Given the description of an element on the screen output the (x, y) to click on. 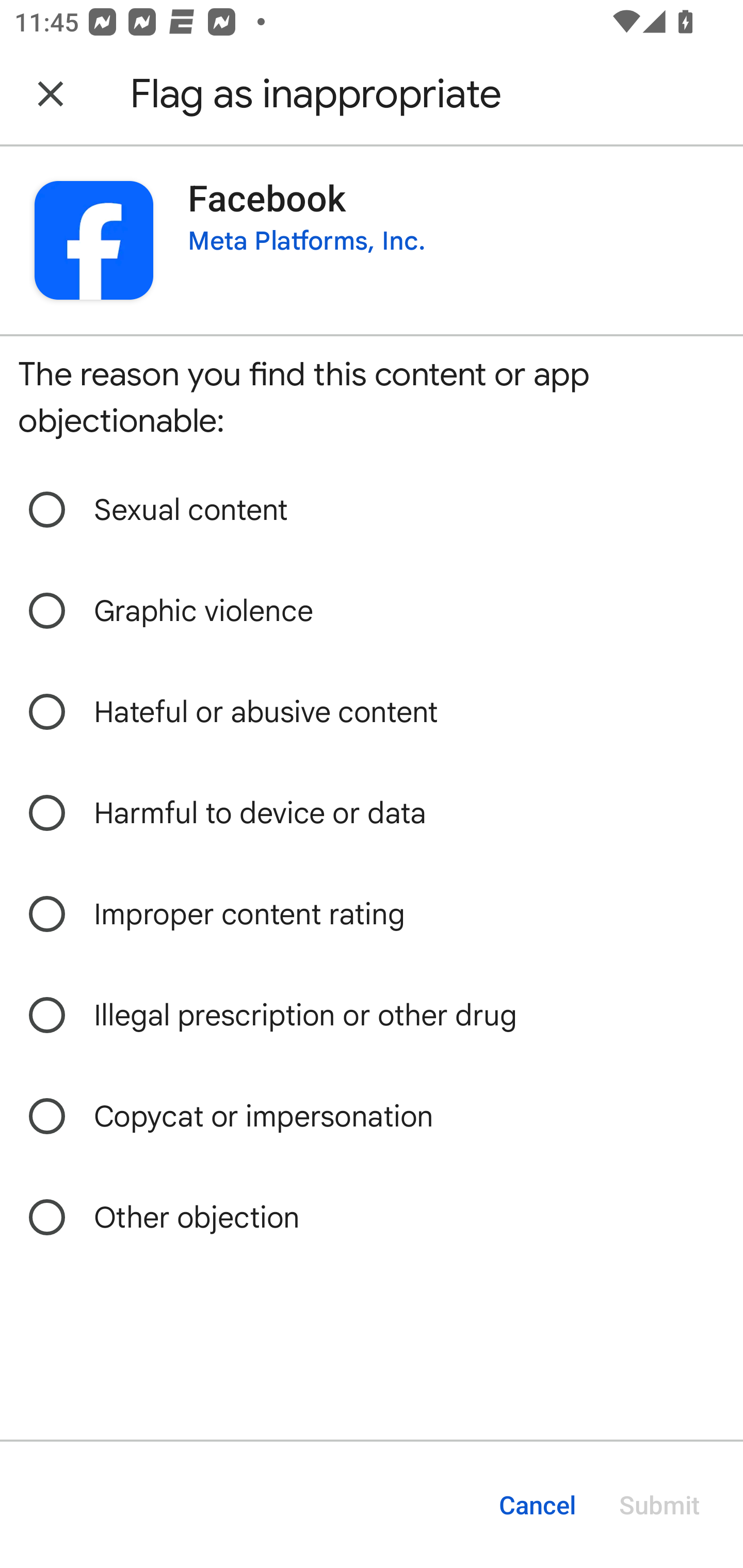
Close (50, 93)
Meta Platforms, Inc. (306, 240)
Sexual content (371, 509)
Graphic violence (371, 610)
Hateful or abusive content (371, 711)
Harmful to device or data (371, 812)
Improper content rating (371, 913)
Illegal prescription or other drug (371, 1015)
Copycat or impersonation (371, 1116)
Other objection (371, 1217)
Cancel (537, 1504)
Submit (659, 1504)
